Given the description of an element on the screen output the (x, y) to click on. 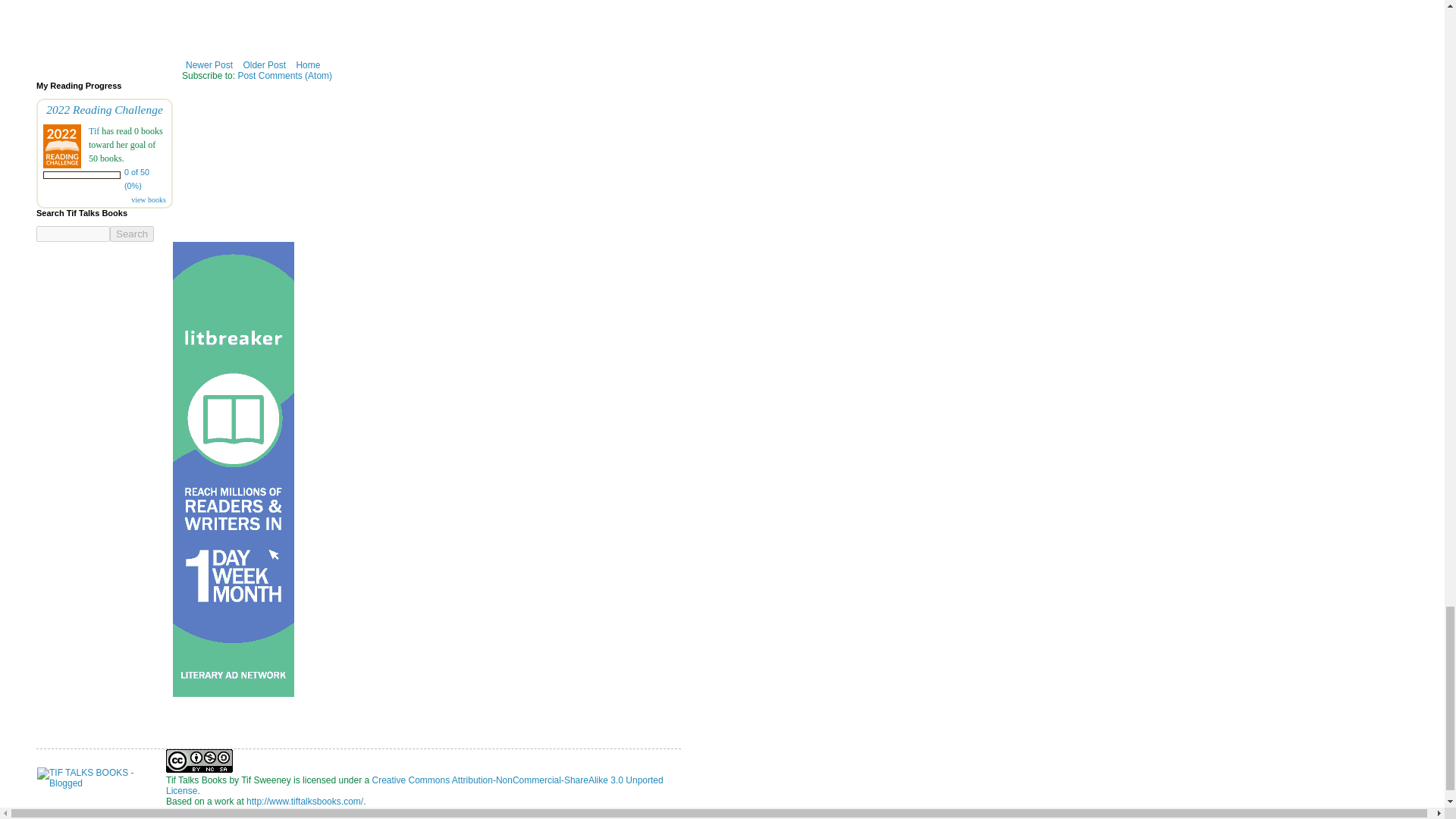
Older Post (263, 65)
search (132, 233)
search (73, 233)
Search (132, 233)
TIF TALKS BOOKS - Blogged (101, 777)
Newer Post (208, 65)
Search (132, 233)
